Given the description of an element on the screen output the (x, y) to click on. 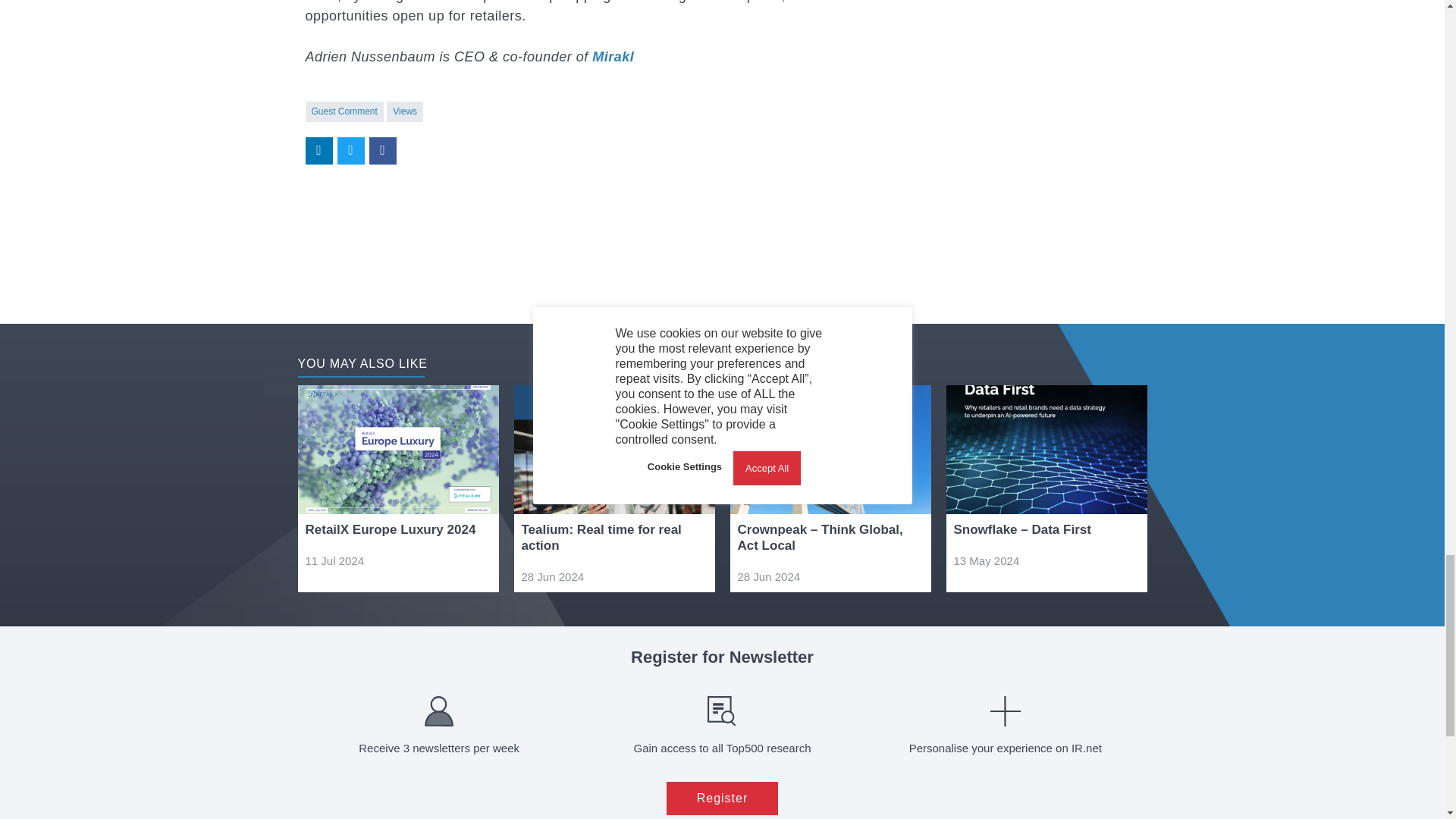
3rd party ad content (580, 221)
